Given the description of an element on the screen output the (x, y) to click on. 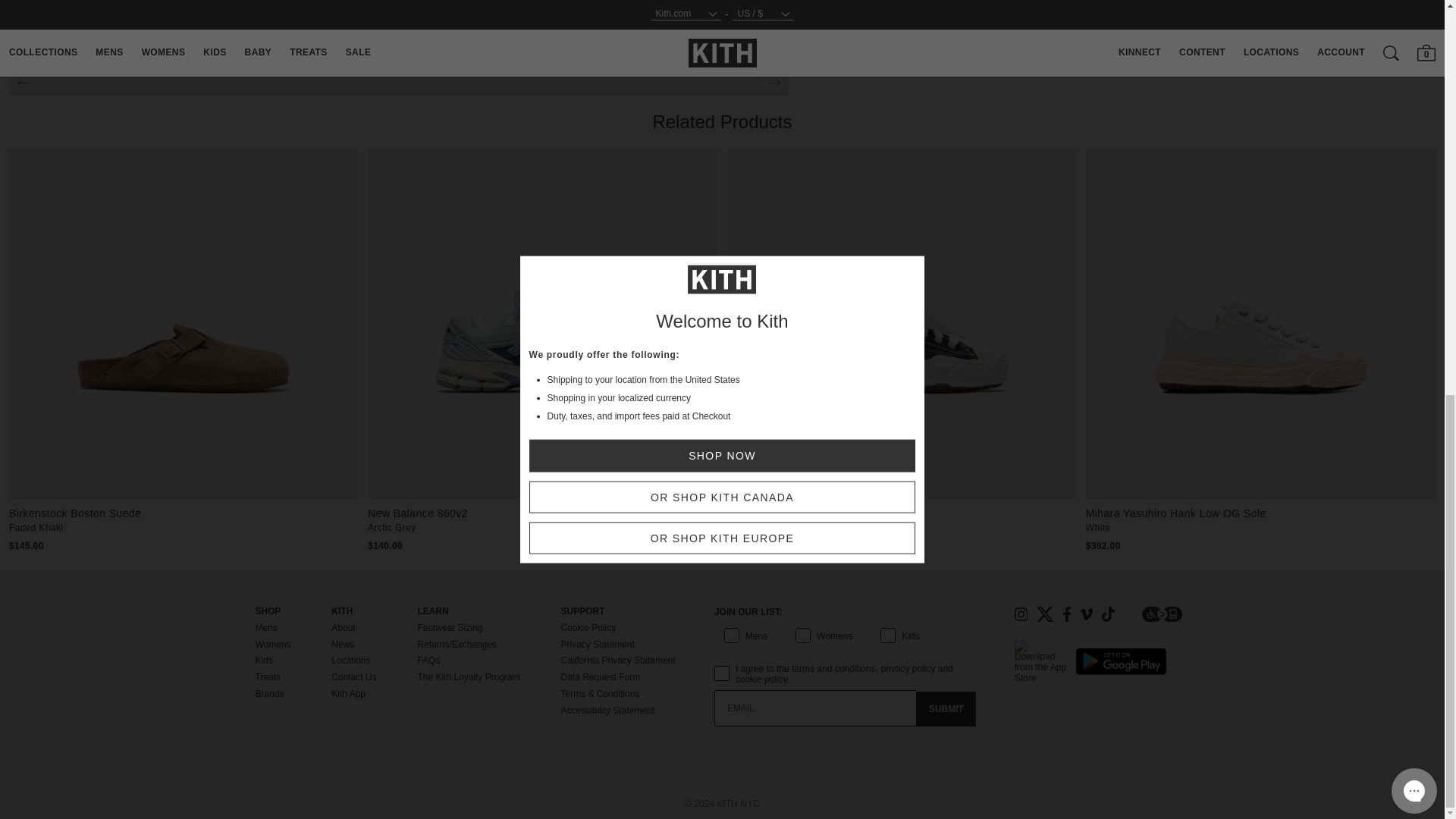
on (718, 657)
essential Accessibility Icon (1161, 613)
X (1044, 613)
Instagram (1020, 613)
X (1044, 613)
Vimeo (1086, 613)
